Given the description of an element on the screen output the (x, y) to click on. 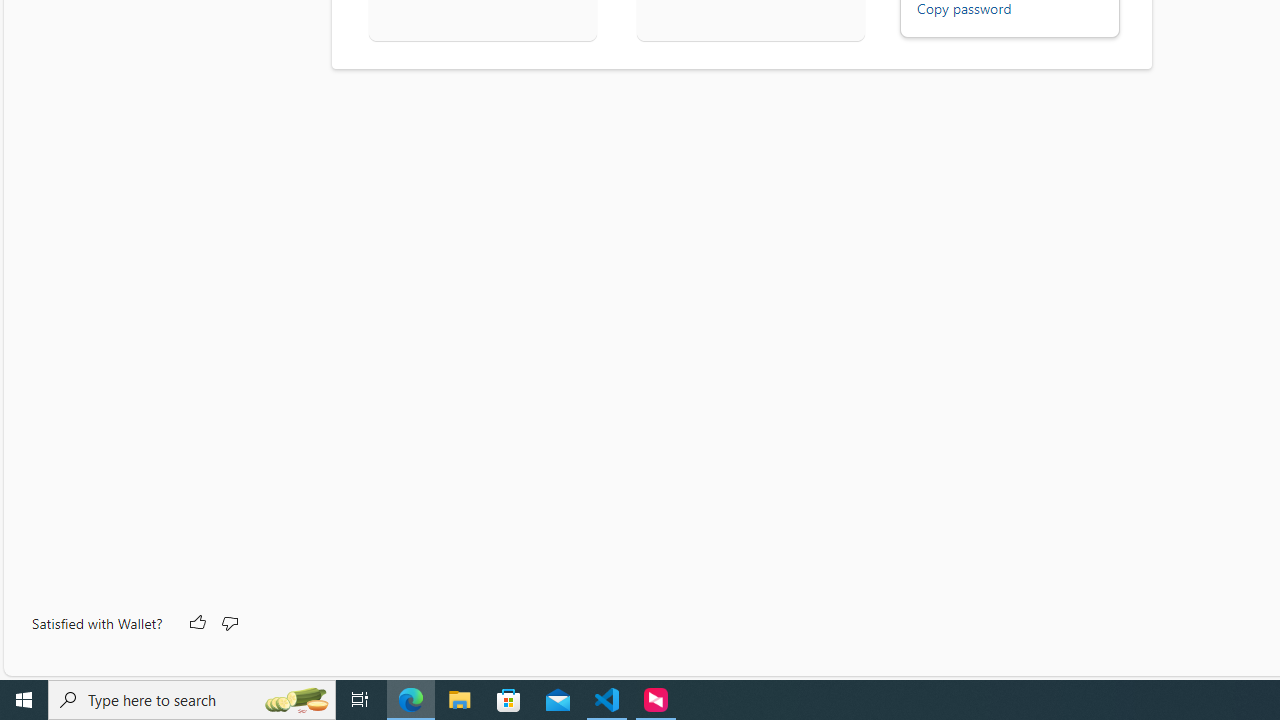
Dislike (228, 623)
Like (196, 623)
